Given the description of an element on the screen output the (x, y) to click on. 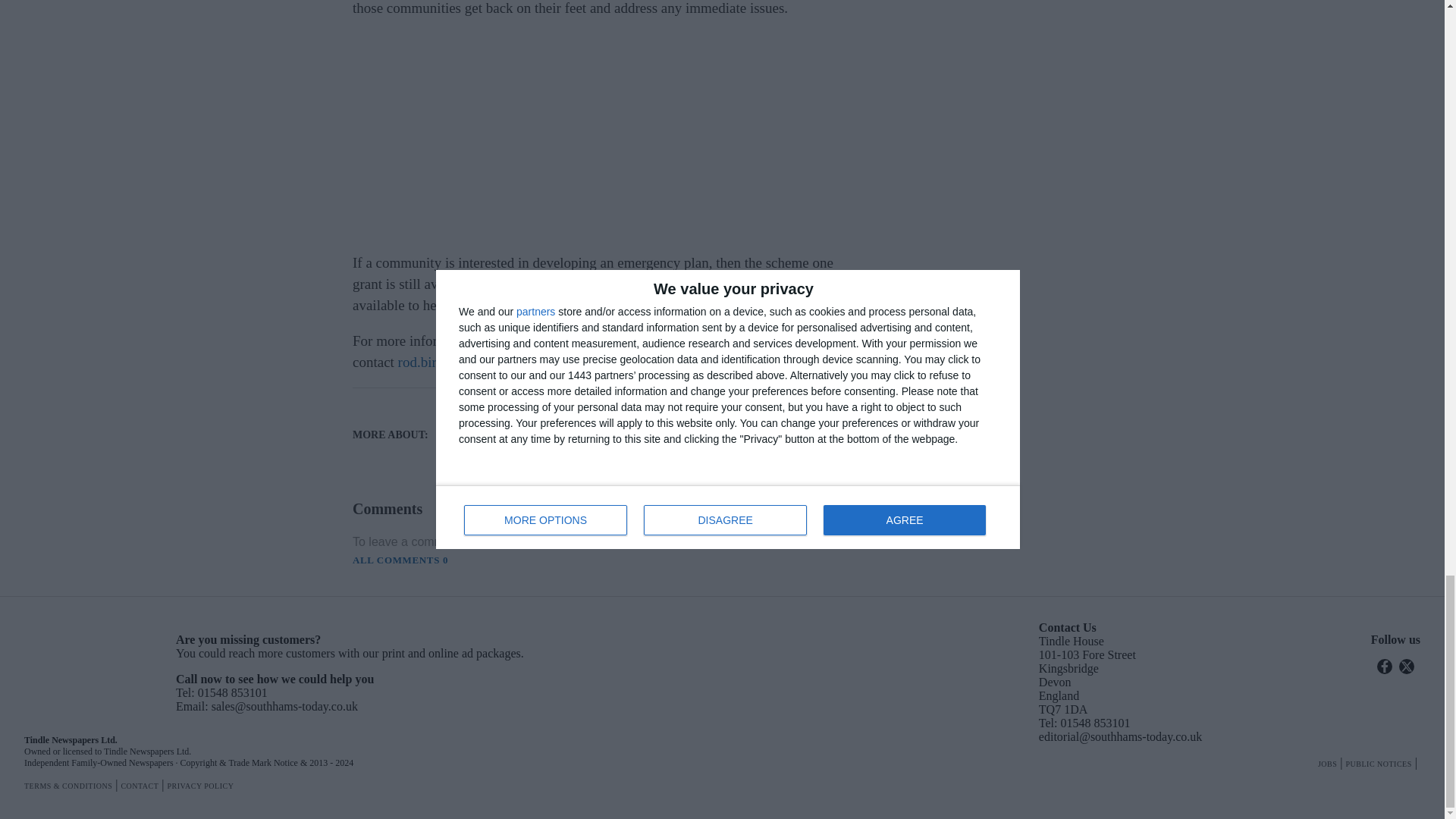
Devon Communities Together (502, 415)
Flooding (615, 415)
Devon Communities Together website (641, 340)
